Given the description of an element on the screen output the (x, y) to click on. 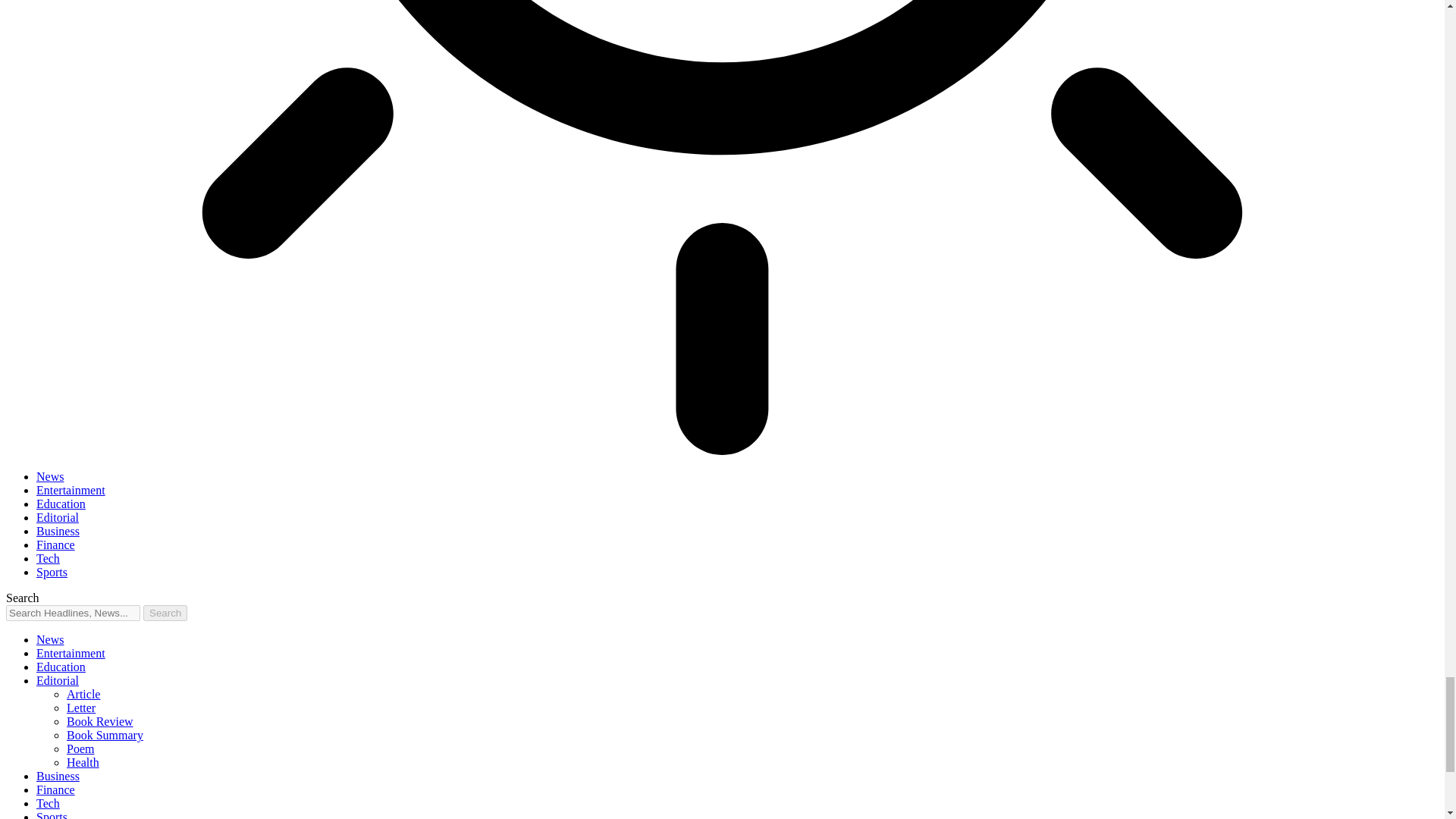
Editorial (57, 680)
Finance (55, 544)
Tech (47, 558)
Editorial (57, 517)
Education (60, 666)
Sports (51, 571)
Search (164, 612)
News (50, 476)
Business (58, 530)
Entertainment (70, 653)
News (50, 639)
Entertainment (70, 490)
Search (164, 612)
Education (60, 503)
